Given the description of an element on the screen output the (x, y) to click on. 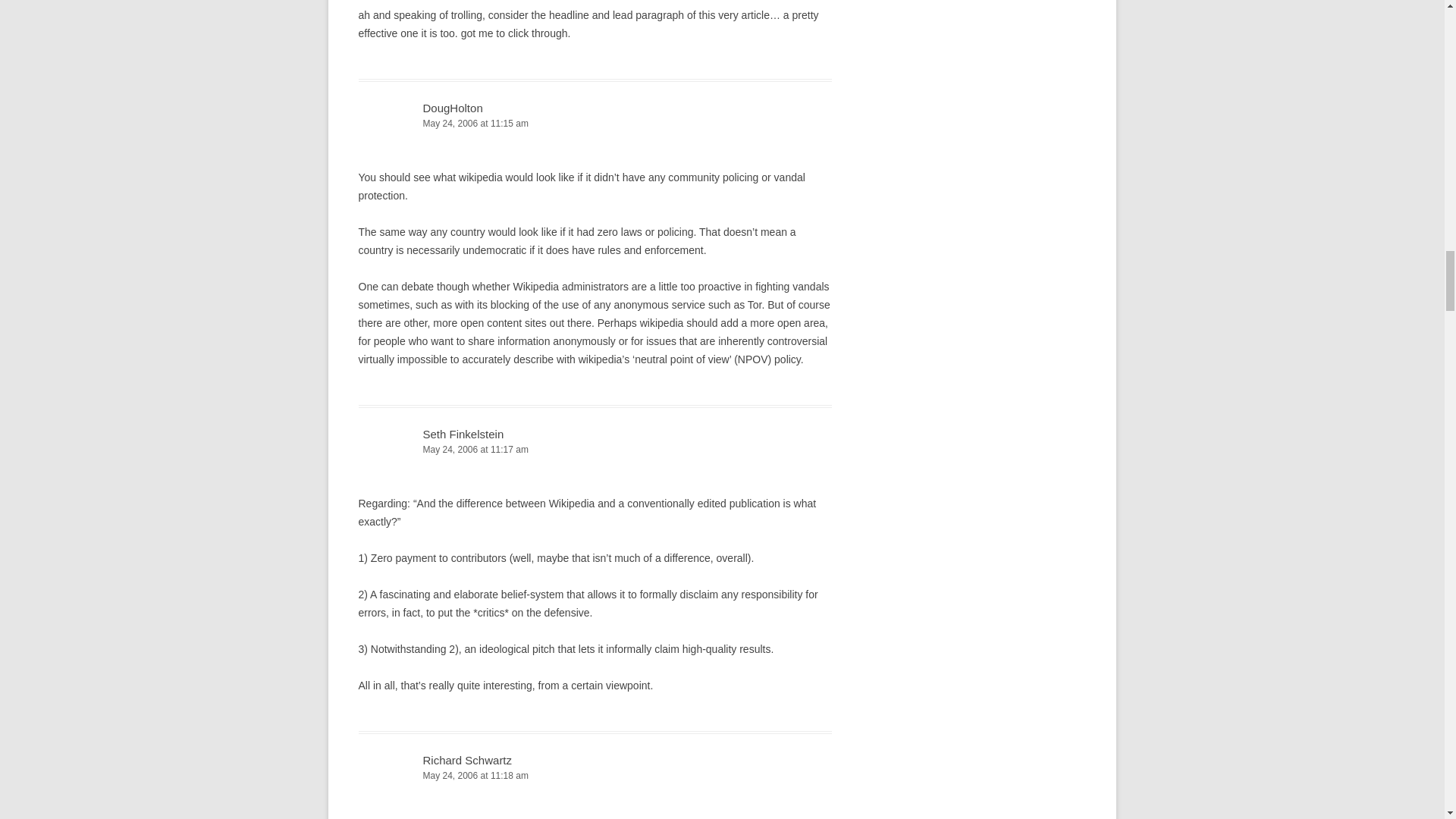
Seth Finkelstein (463, 433)
May 24, 2006 at 11:17 am (594, 449)
May 24, 2006 at 11:15 am (594, 123)
May 24, 2006 at 11:18 am (594, 775)
Richard Schwartz (467, 759)
